Given the description of an element on the screen output the (x, y) to click on. 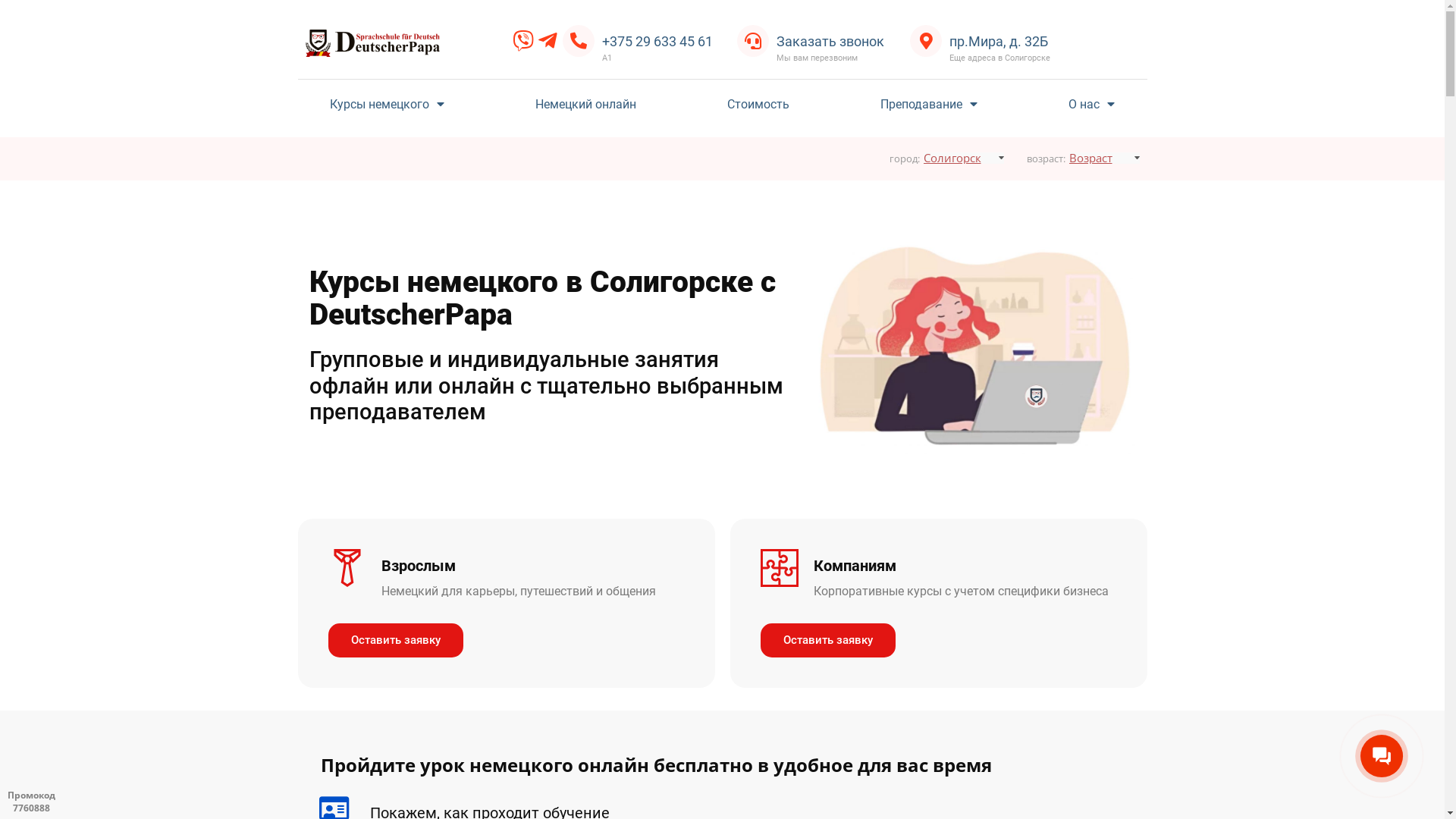
+375 29 633 45 61 Element type: text (657, 41)
